Given the description of an element on the screen output the (x, y) to click on. 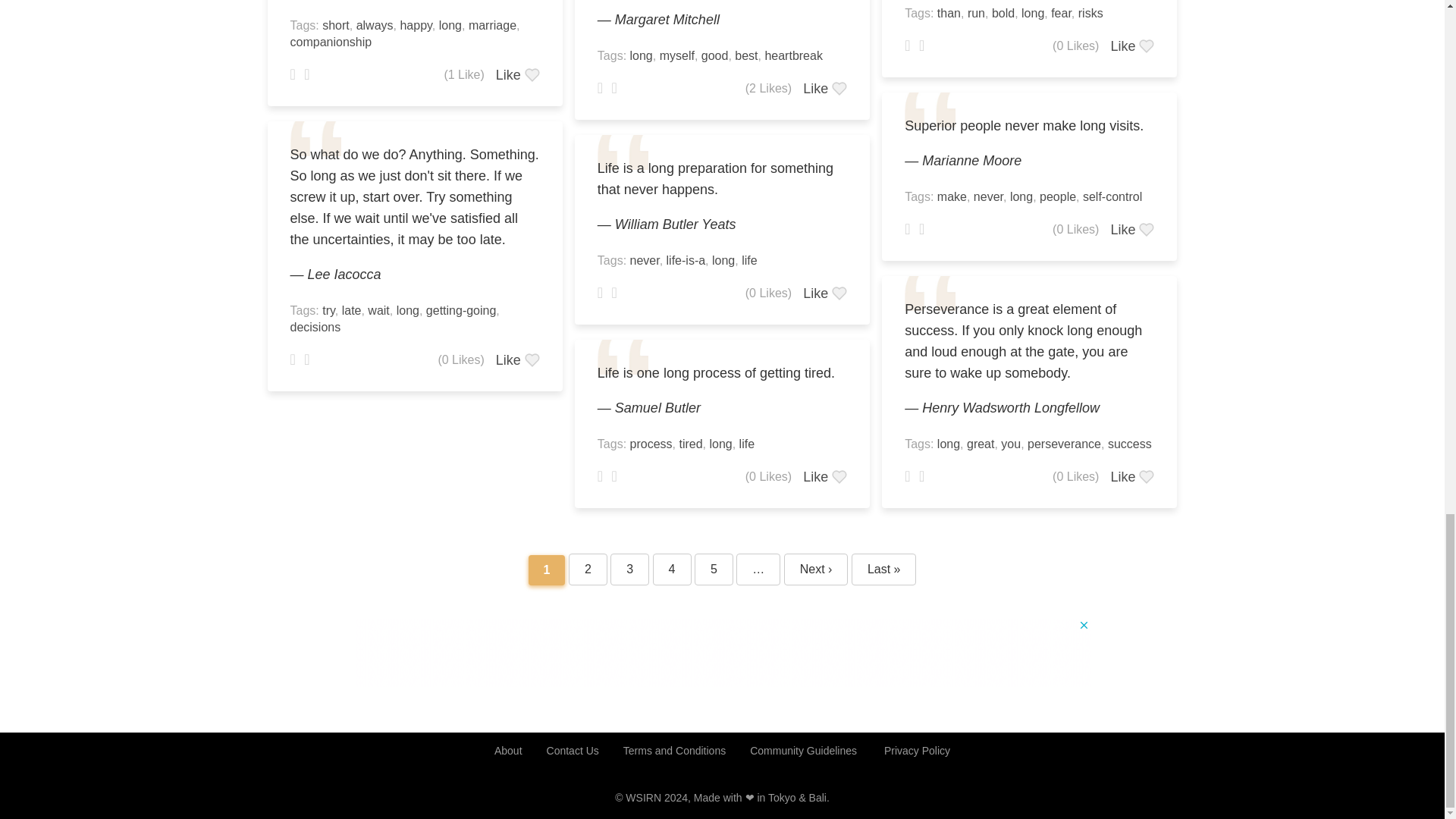
3rd party ad content (722, 653)
